Given the description of an element on the screen output the (x, y) to click on. 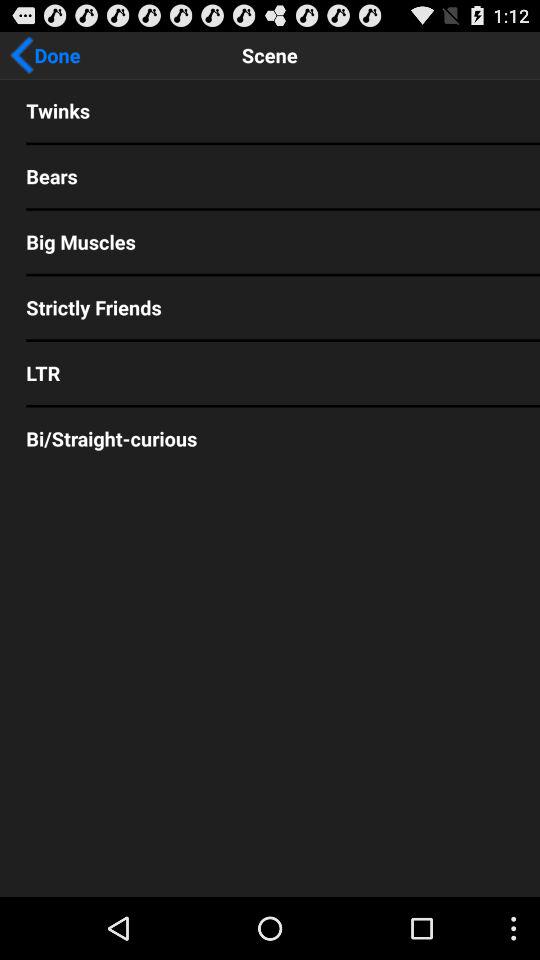
tap strictly friends app (270, 307)
